Given the description of an element on the screen output the (x, y) to click on. 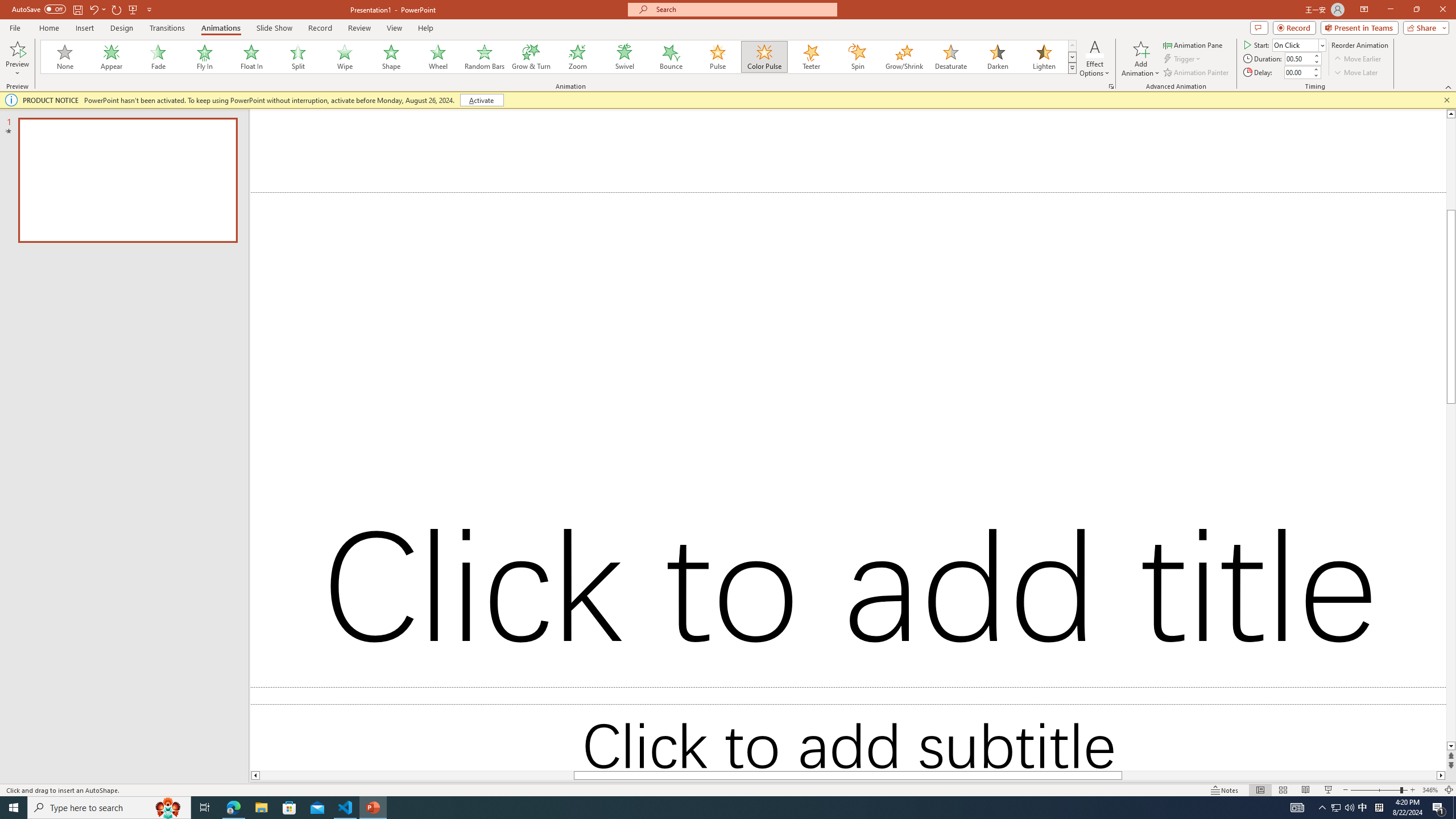
Wipe (344, 56)
Zoom 346% (1430, 790)
Lighten (1043, 56)
Less (1315, 75)
More (1315, 69)
Grow & Turn (531, 56)
